Given the description of an element on the screen output the (x, y) to click on. 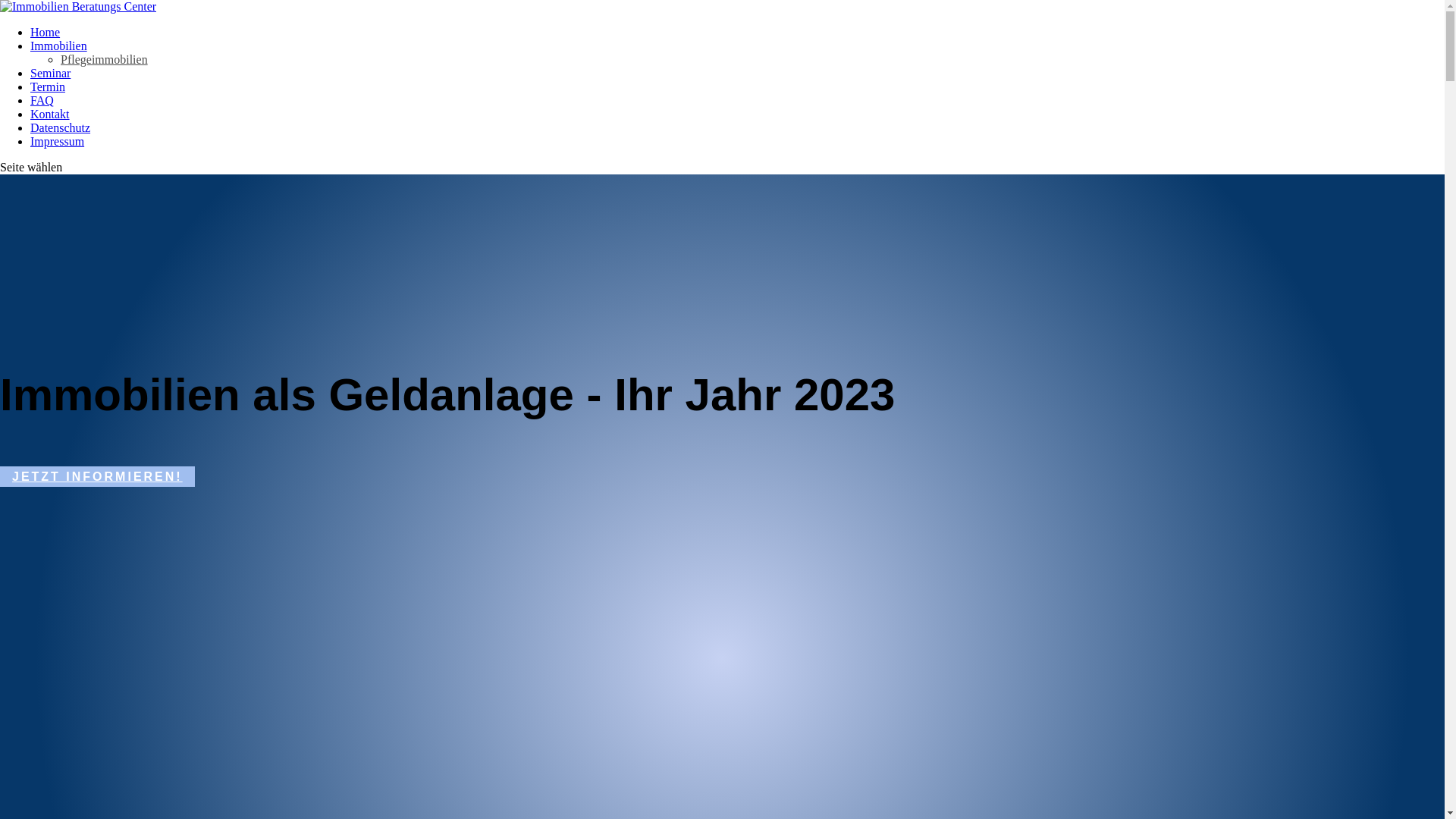
JETZT INFORMIEREN! Element type: text (97, 476)
Home Element type: text (44, 31)
Seminar Element type: text (50, 72)
Impressum Element type: text (57, 140)
Termin Element type: text (47, 86)
FAQ Element type: text (41, 100)
Kontakt Element type: text (49, 113)
Immobilien Element type: text (58, 45)
Datenschutz Element type: text (60, 127)
Pflegeimmobilien Element type: text (103, 59)
